Given the description of an element on the screen output the (x, y) to click on. 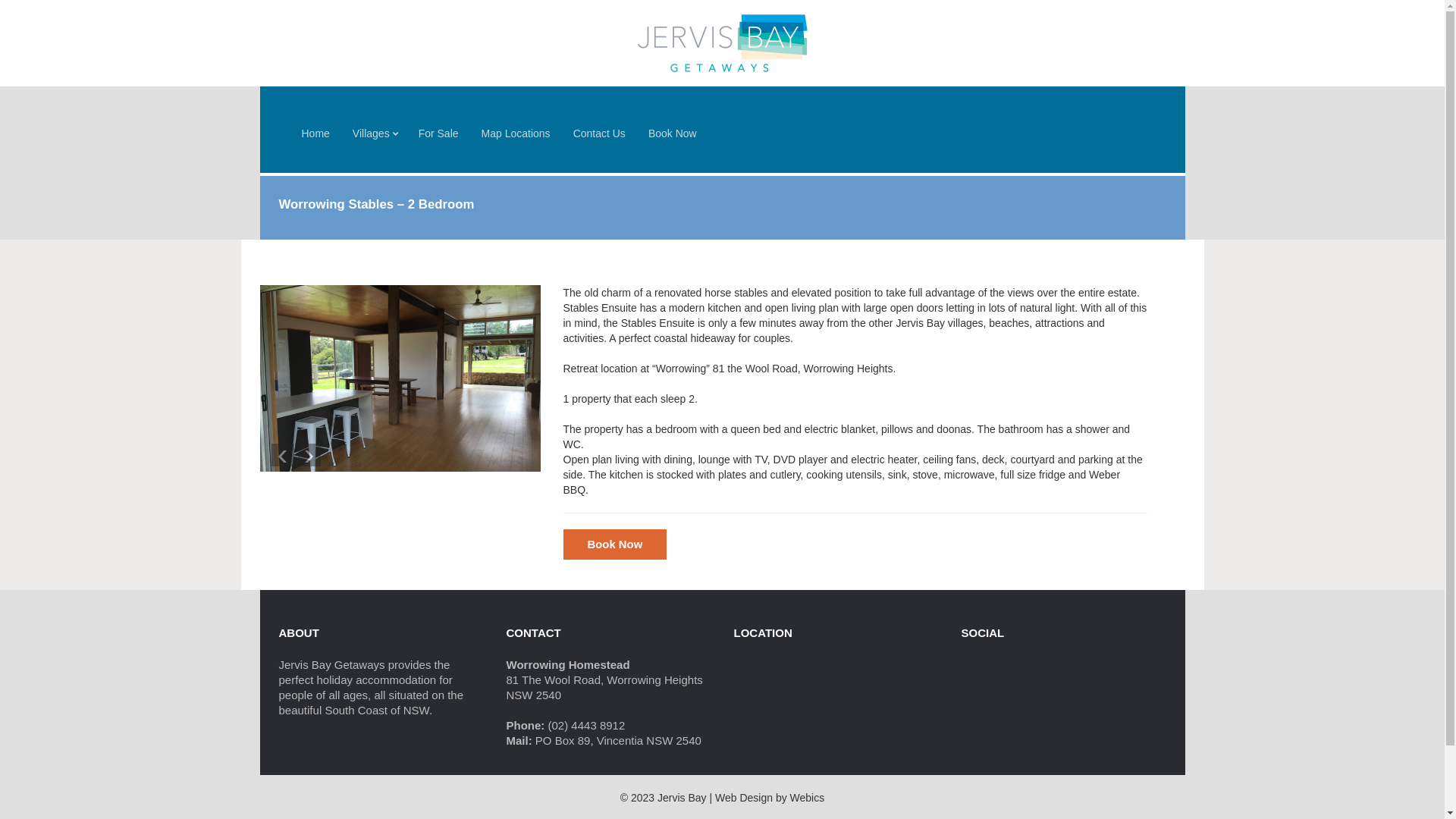
Map Locations Element type: text (515, 133)
Book Now Element type: text (614, 544)
Contact Us Element type: text (599, 133)
Villages Element type: text (373, 133)
Book Now Element type: text (672, 133)
Home Element type: text (315, 133)
For Sale Element type: text (438, 133)
